Given the description of an element on the screen output the (x, y) to click on. 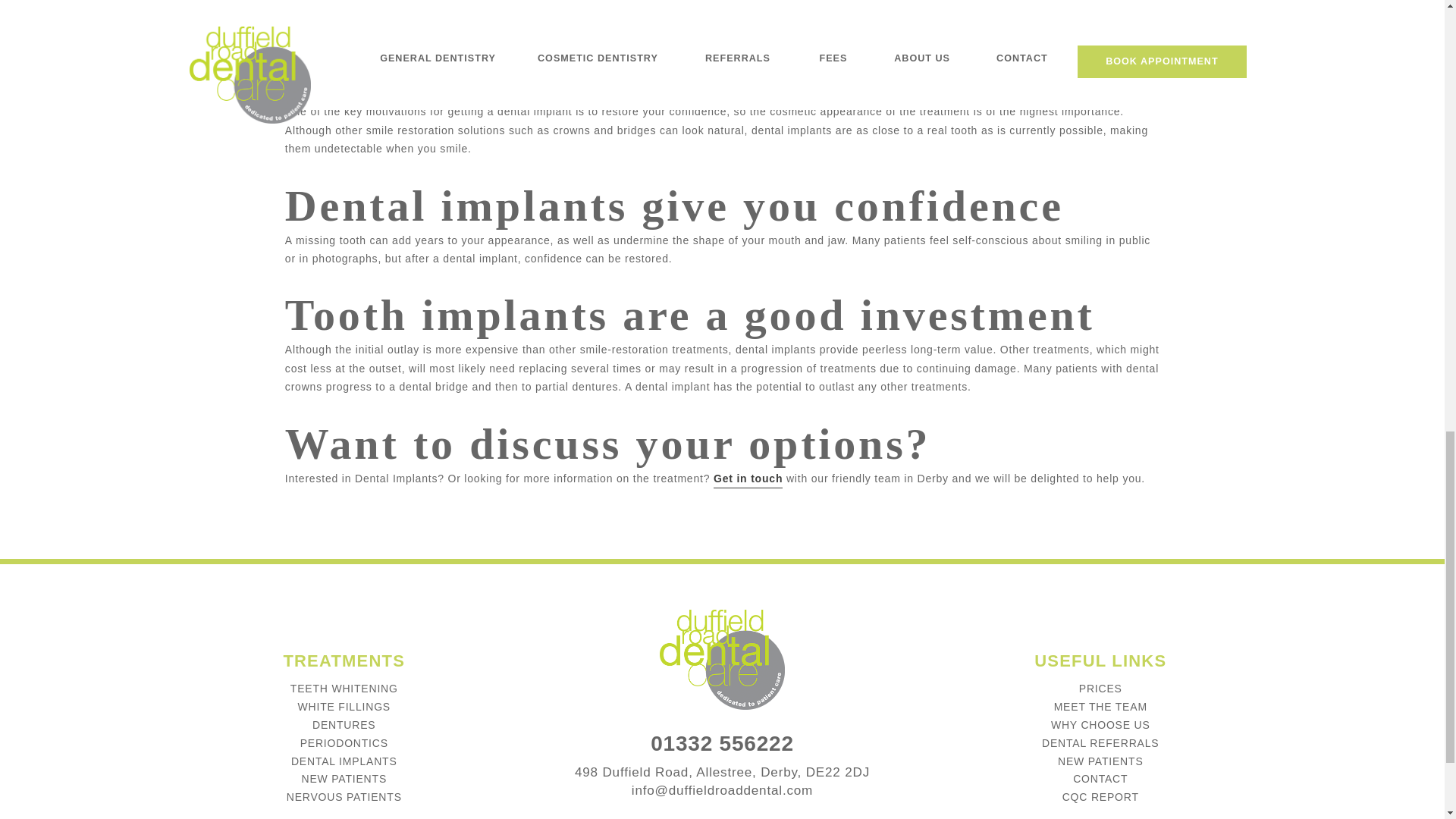
NEW PATIENTS (344, 778)
WHY CHOOSE US (1100, 725)
DENTURES (344, 725)
DENTAL IMPLANTS (344, 761)
NERVOUS PATIENTS (343, 797)
Get in touch (748, 478)
DENTAL REFERRALS (1100, 743)
PRICES (1100, 688)
TEETH WHITENING (343, 688)
WHITE FILLINGS (344, 706)
PERIODONTICS (343, 743)
MEET THE TEAM (1100, 706)
NEW PATIENTS (1100, 761)
